Given the description of an element on the screen output the (x, y) to click on. 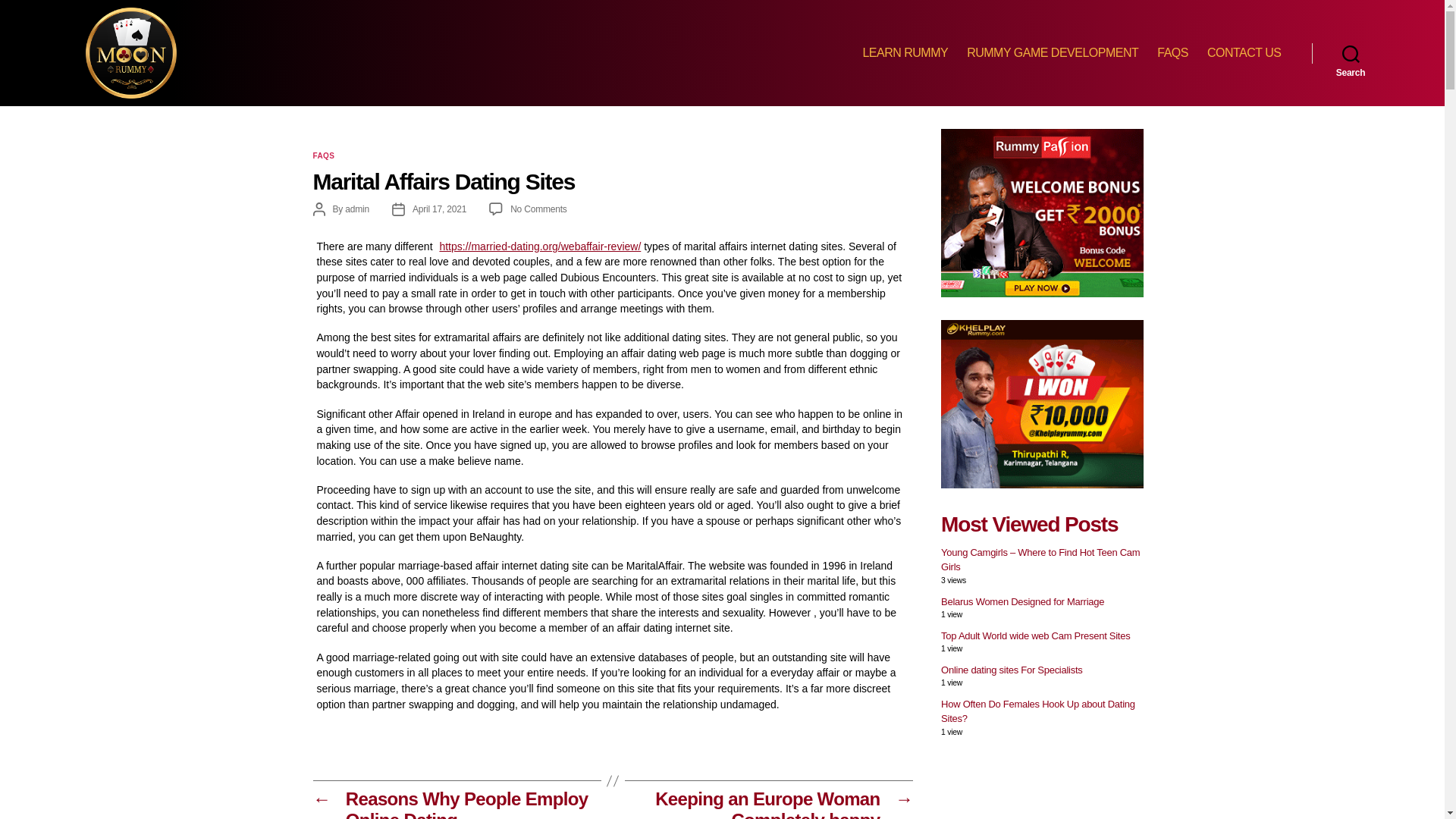
Search (1350, 52)
LEARN RUMMY (904, 52)
Belarus Women Designed for Marriage (1021, 601)
FAQS (1172, 52)
April 17, 2021 (538, 208)
RUMMY GAME DEVELOPMENT (438, 208)
How Often Do Females Hook Up about Dating Sites? (1052, 52)
admin (1037, 711)
FAQS (357, 208)
